Given the description of an element on the screen output the (x, y) to click on. 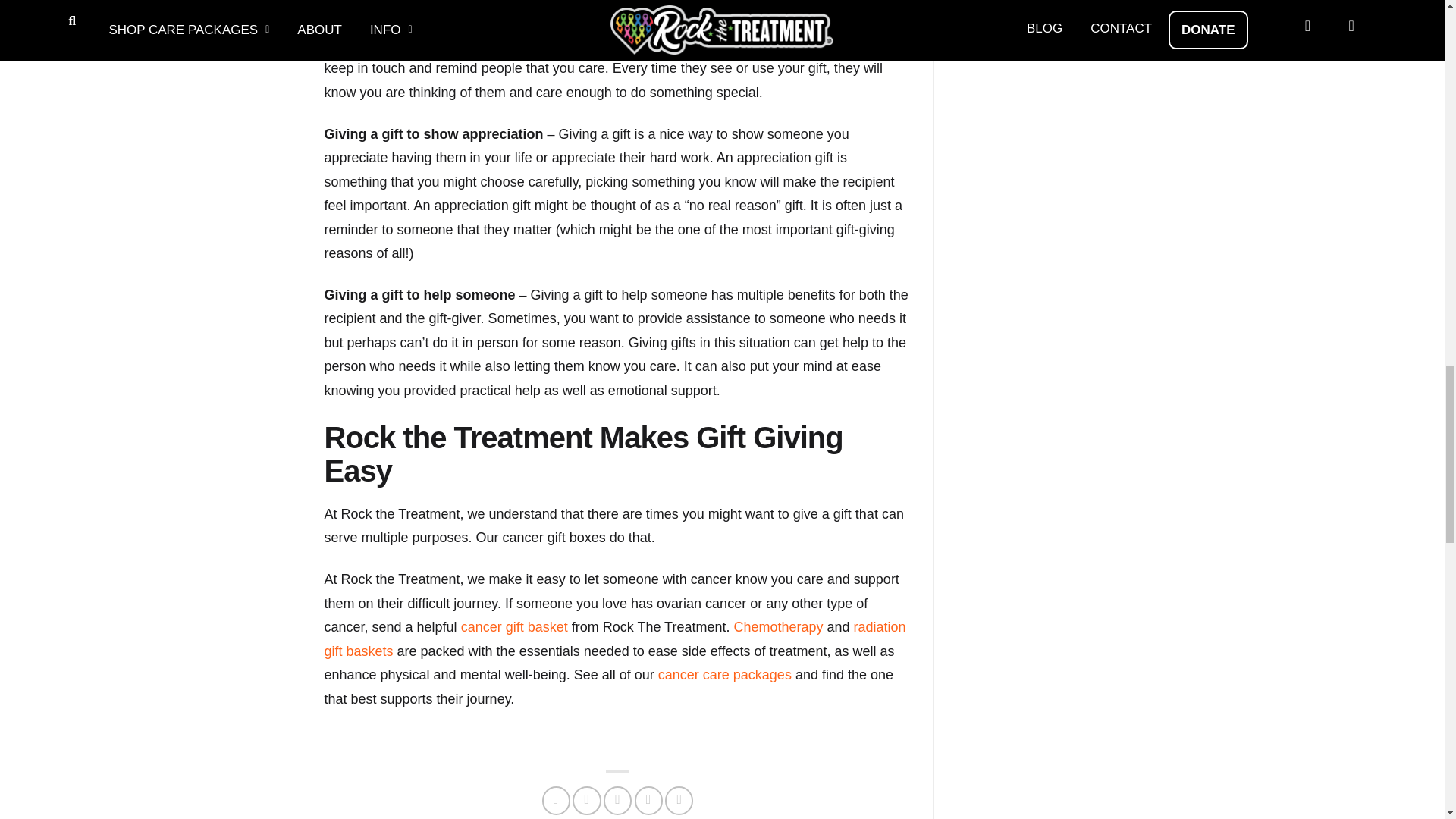
Pin on Pinterest (648, 800)
Share on Facebook (555, 800)
Email to a Friend (617, 800)
Share on LinkedIn (679, 800)
Share on Twitter (585, 800)
